Given the description of an element on the screen output the (x, y) to click on. 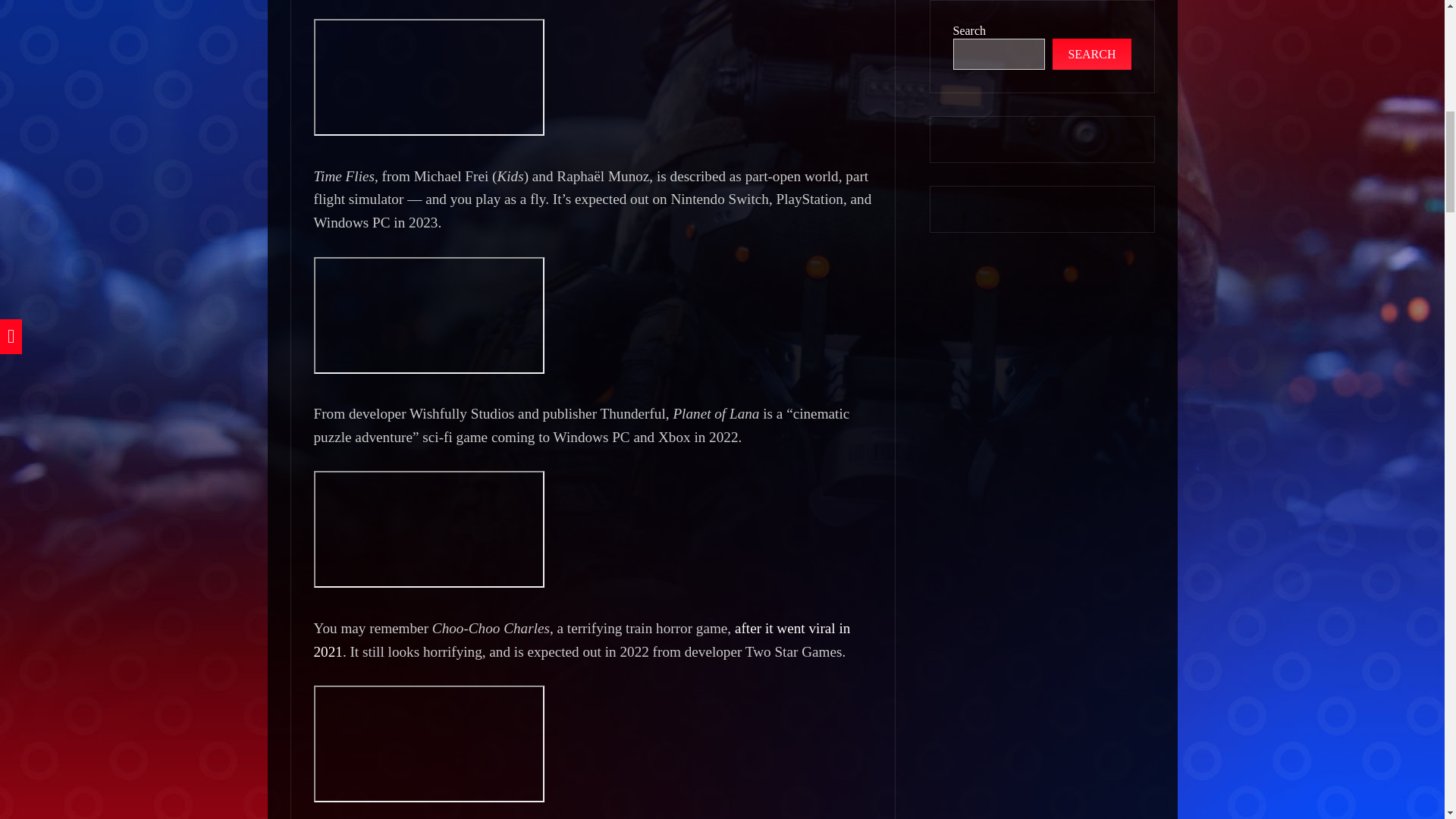
after it went viral in 2021 (582, 639)
